Given the description of an element on the screen output the (x, y) to click on. 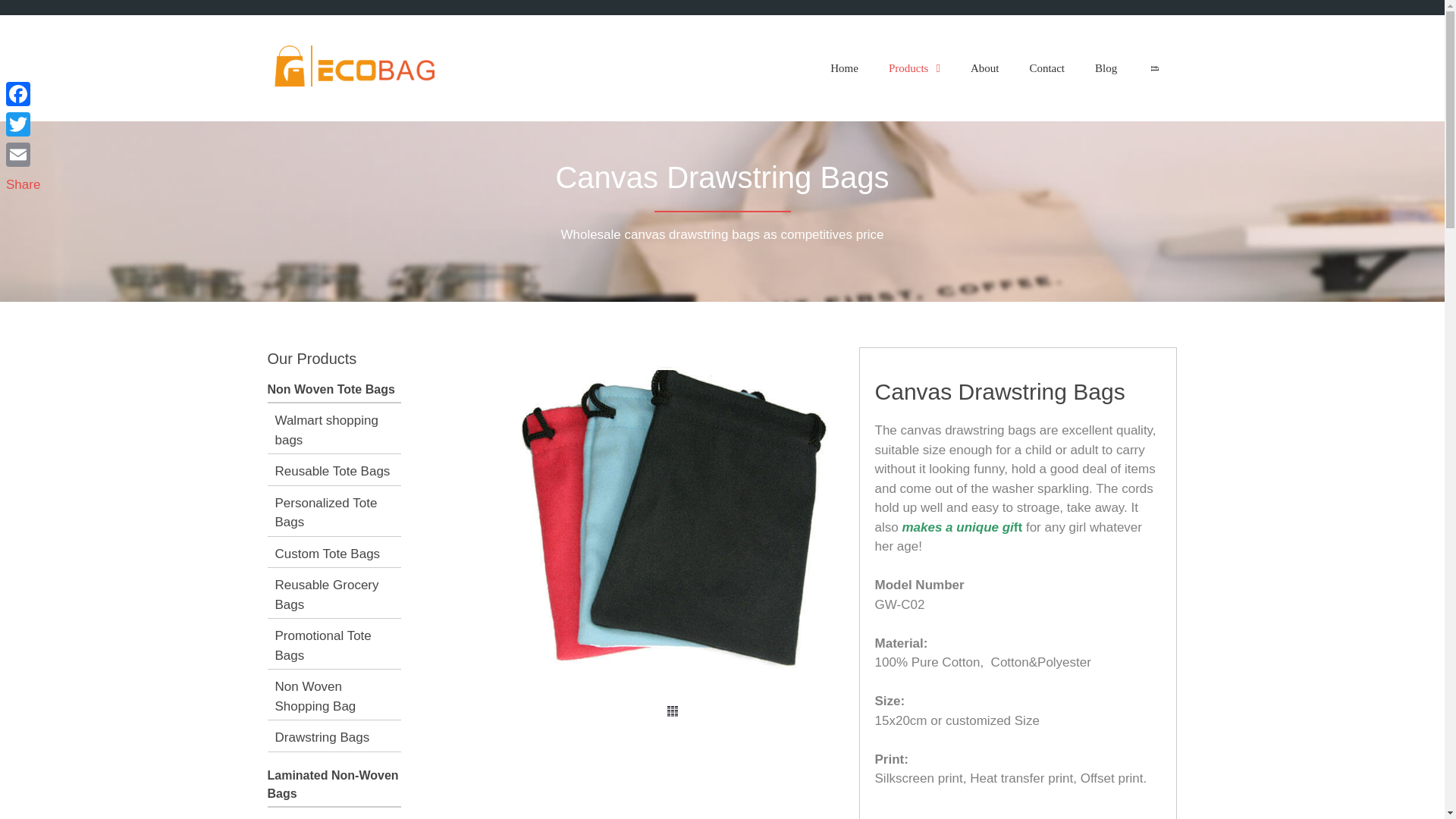
Products (914, 67)
Search (1154, 67)
Twitter (22, 123)
Email (22, 154)
Home (844, 67)
Facebook (22, 93)
